Given the description of an element on the screen output the (x, y) to click on. 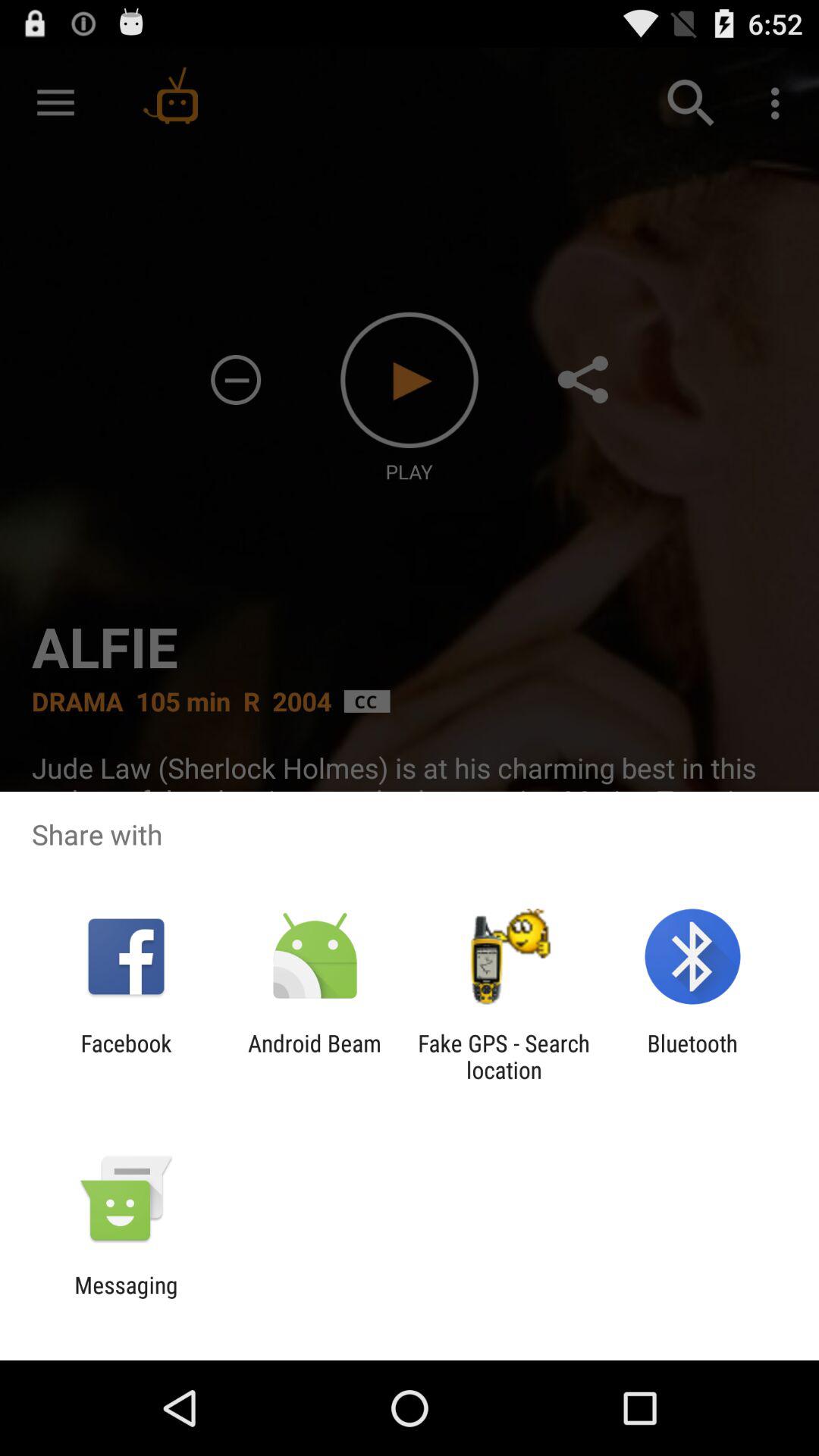
turn on the item to the right of the fake gps search (692, 1056)
